Given the description of an element on the screen output the (x, y) to click on. 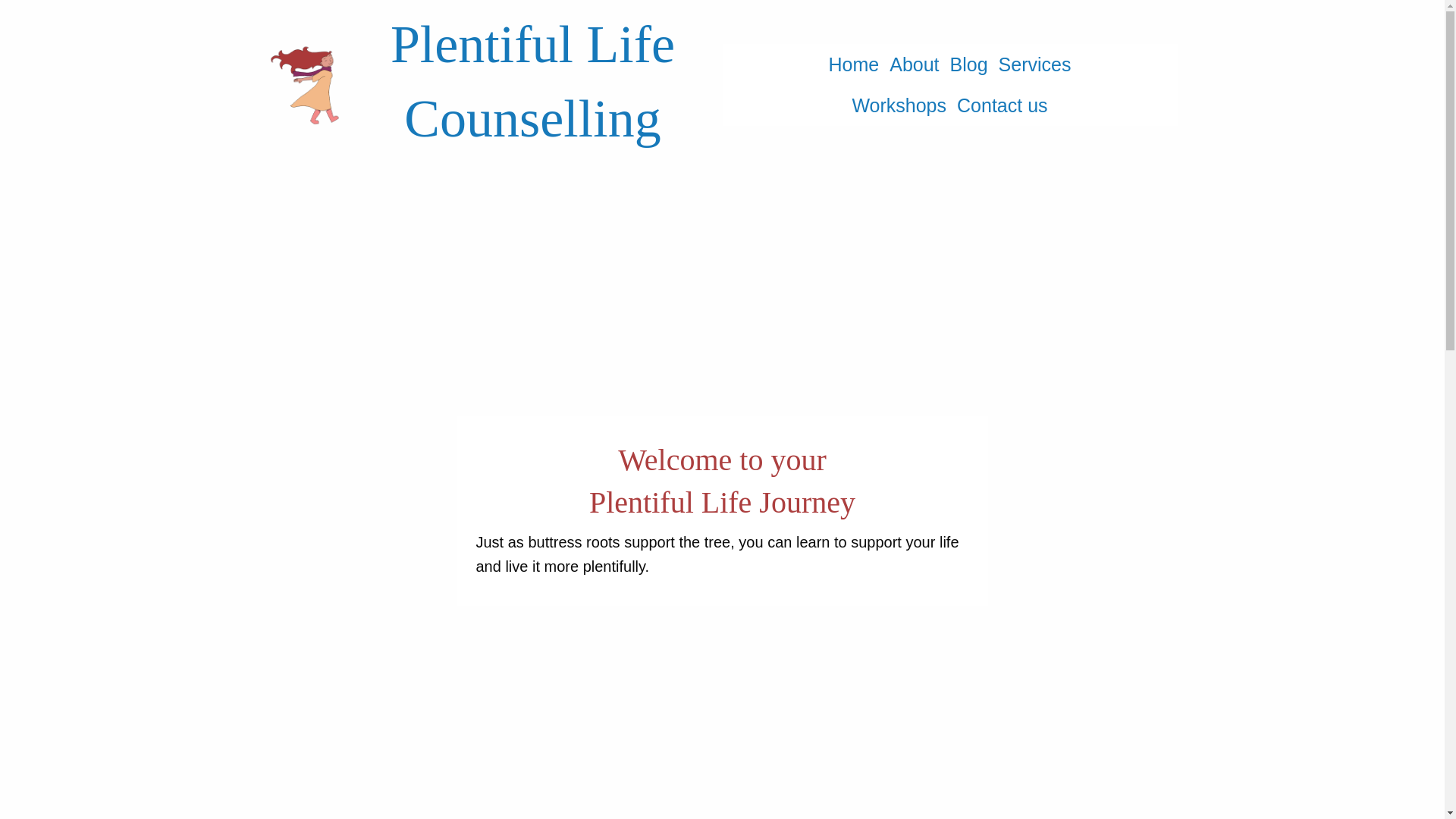
How to contact us (1002, 105)
Services (1034, 64)
Contact us (1002, 105)
Home page (854, 64)
About (913, 64)
Our services (1034, 64)
Workshops (898, 105)
Our workshops (898, 105)
Plentiful Life Counselling (532, 81)
Home (854, 64)
Nan's blog (968, 64)
About us (913, 64)
Blog (968, 64)
